Given the description of an element on the screen output the (x, y) to click on. 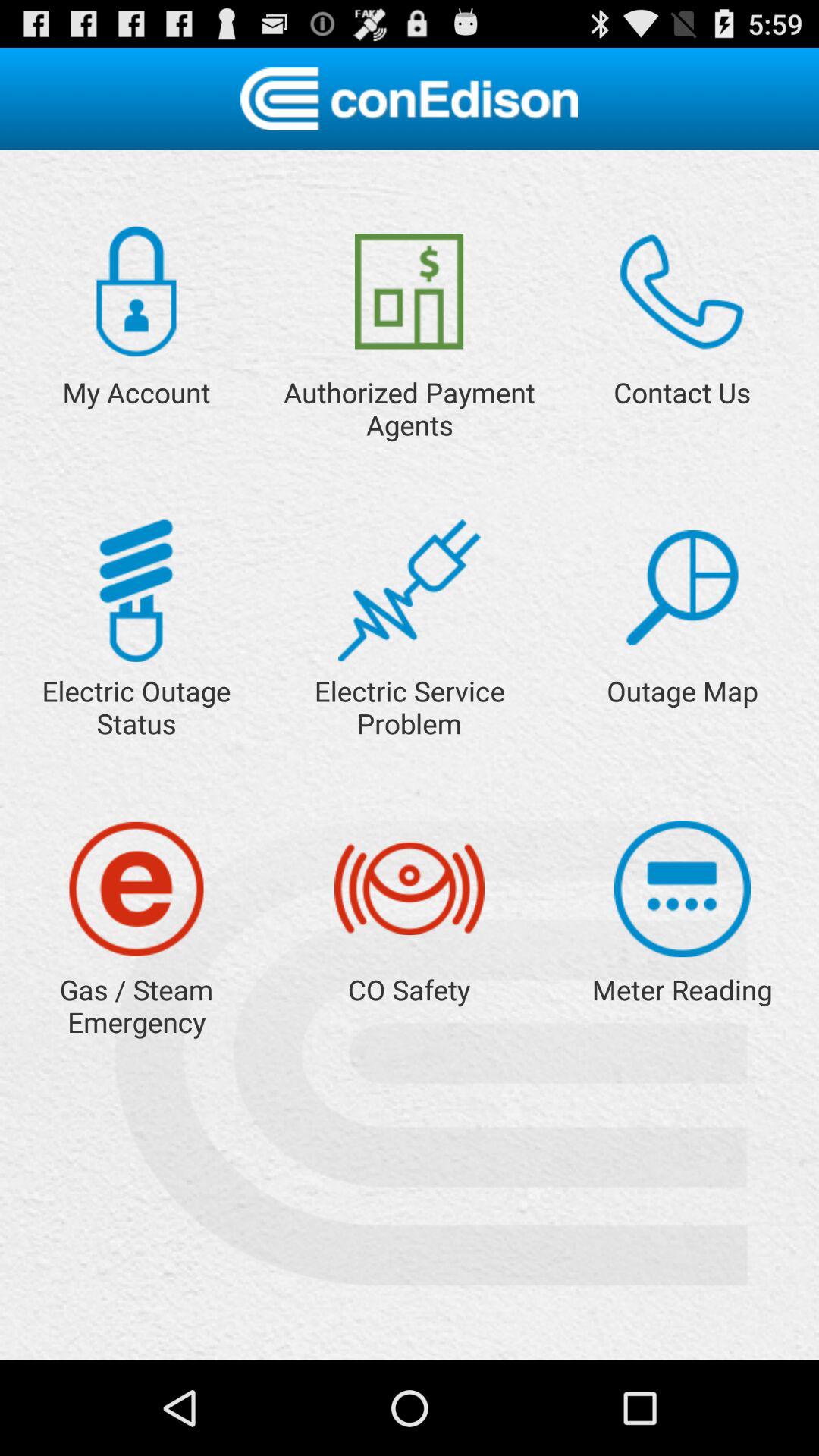
go to my account (136, 291)
